Given the description of an element on the screen output the (x, y) to click on. 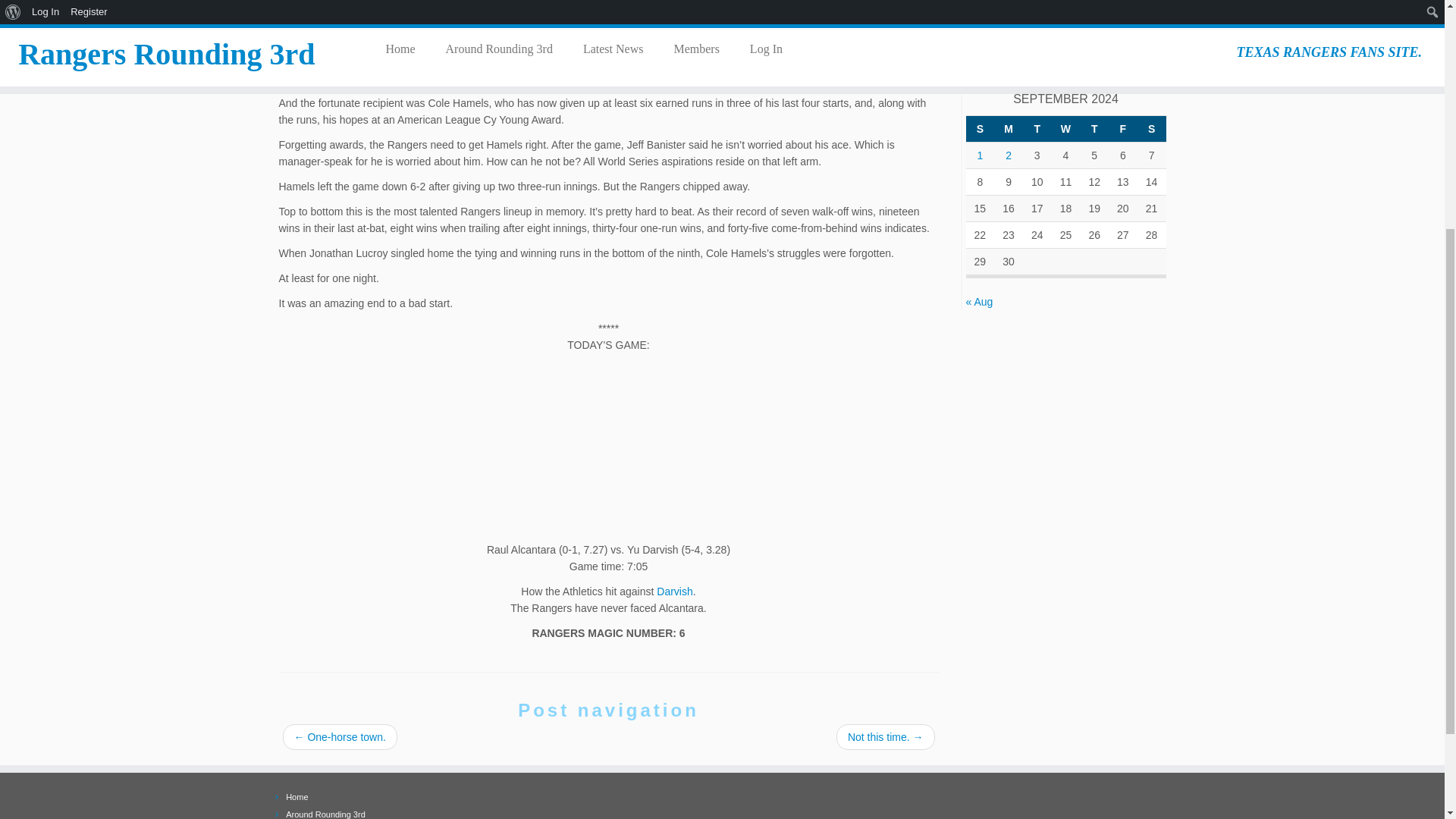
Tuesday (1037, 128)
Friday (1122, 128)
Infield of the future. (1099, 12)
Sunday (980, 128)
Thursday (1094, 128)
Infield of the future. (1077, 32)
Saturday (1151, 128)
Wednesday (1065, 128)
Darvish (674, 591)
Home (296, 796)
